Given the description of an element on the screen output the (x, y) to click on. 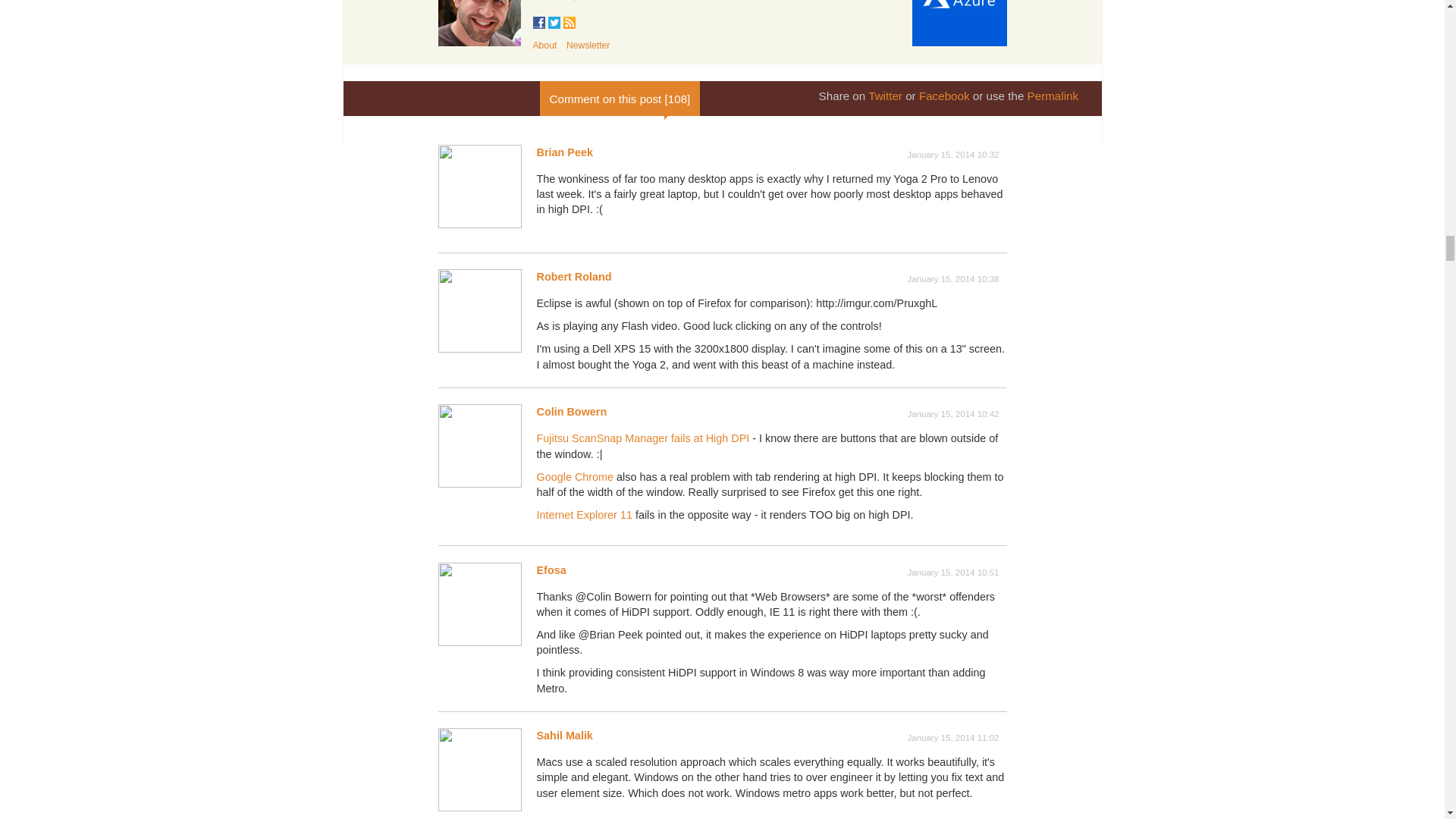
Twitter (884, 95)
Facebook (943, 95)
Newsletter (588, 45)
About (544, 45)
Permalink (1052, 95)
Fujitsu ScanSnap Manager fails at High DPI (643, 438)
